Given the description of an element on the screen output the (x, y) to click on. 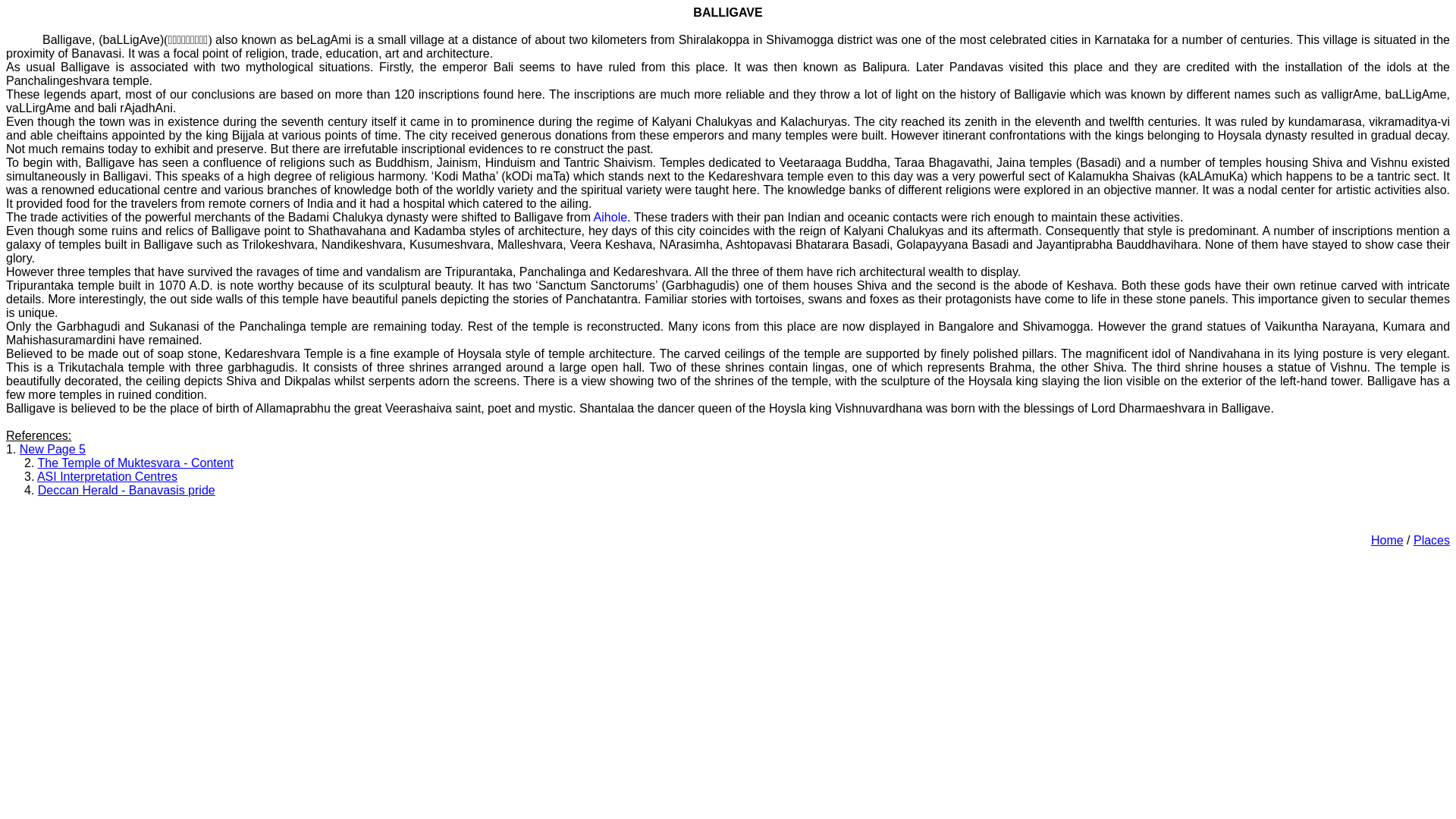
Places (1431, 540)
New Page 5 (52, 449)
Home (1387, 540)
Deccan Herald - Banavasis pride (126, 490)
ASI Interpretation Centres (107, 476)
The Temple of Muktesvara - Content (135, 462)
